Given the description of an element on the screen output the (x, y) to click on. 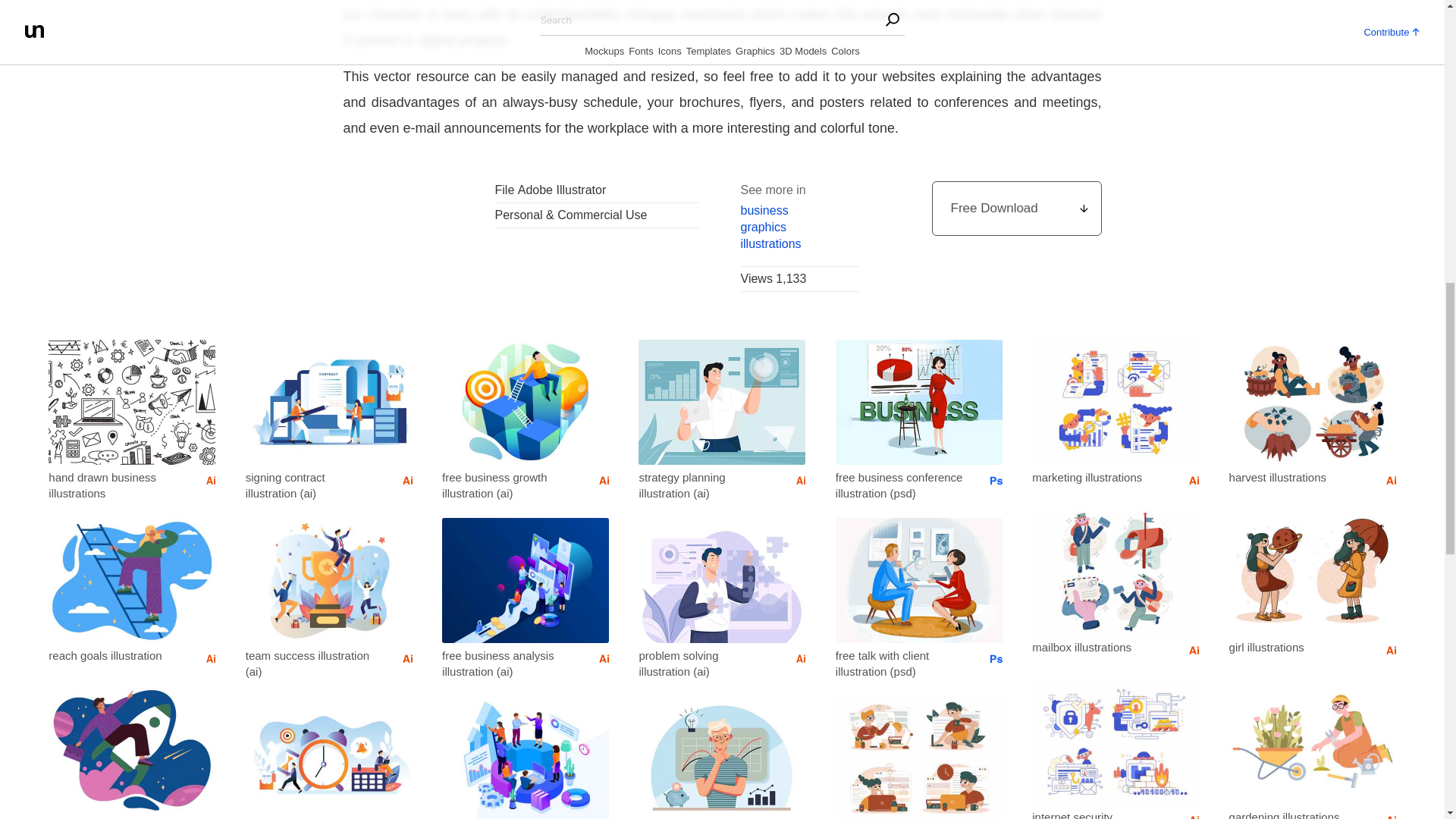
business success abstract illustration (115, 816)
reach goals illustration (115, 655)
business (799, 210)
graphics (799, 227)
hand drawn business illustrations (115, 484)
Free Download (1015, 207)
illustrations (799, 243)
